Given the description of an element on the screen output the (x, y) to click on. 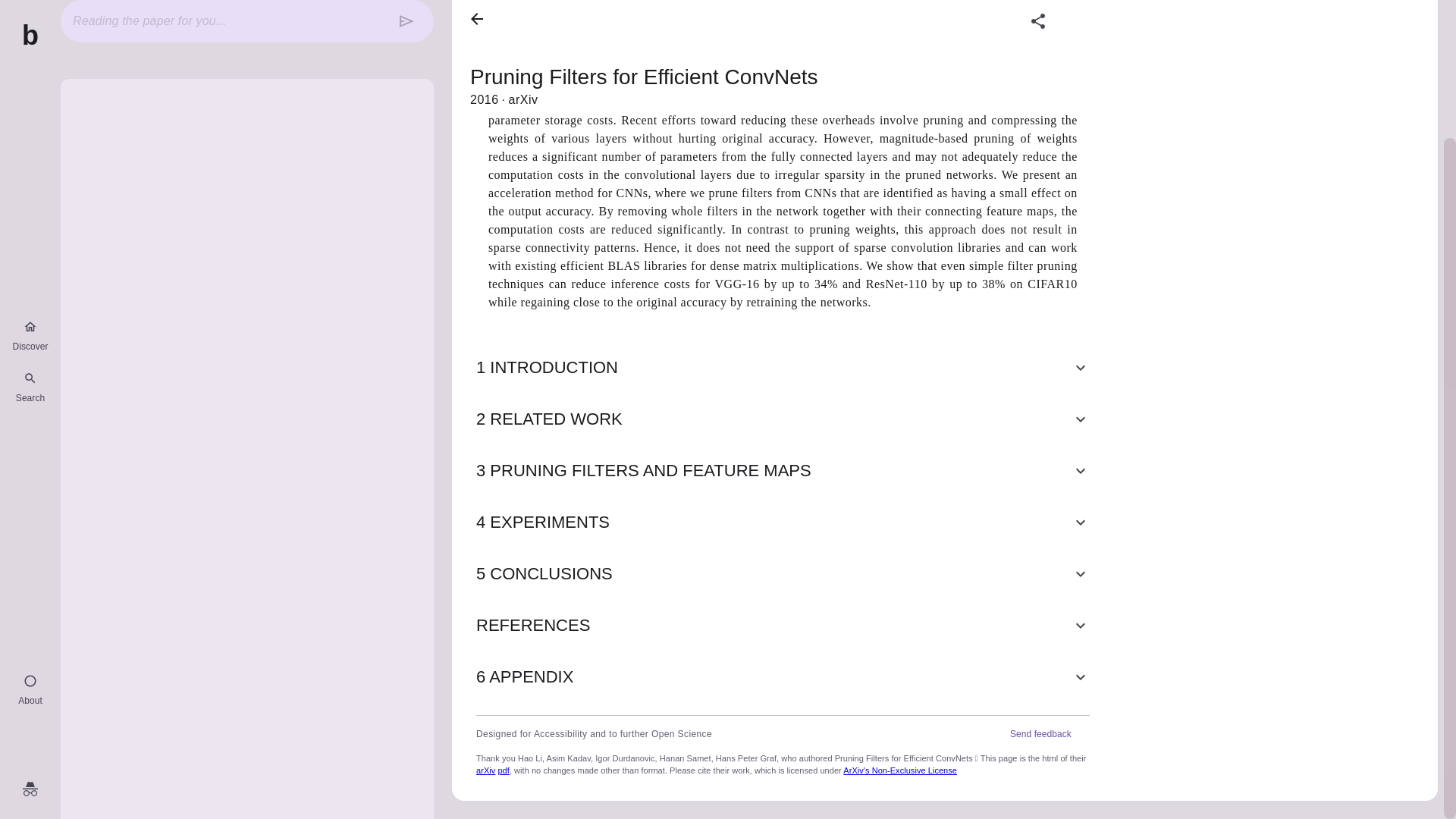
0 (967, 7)
Search (29, 220)
Sign in (30, 622)
About (29, 523)
Listen aloud (912, 9)
Discover (29, 169)
